Given the description of an element on the screen output the (x, y) to click on. 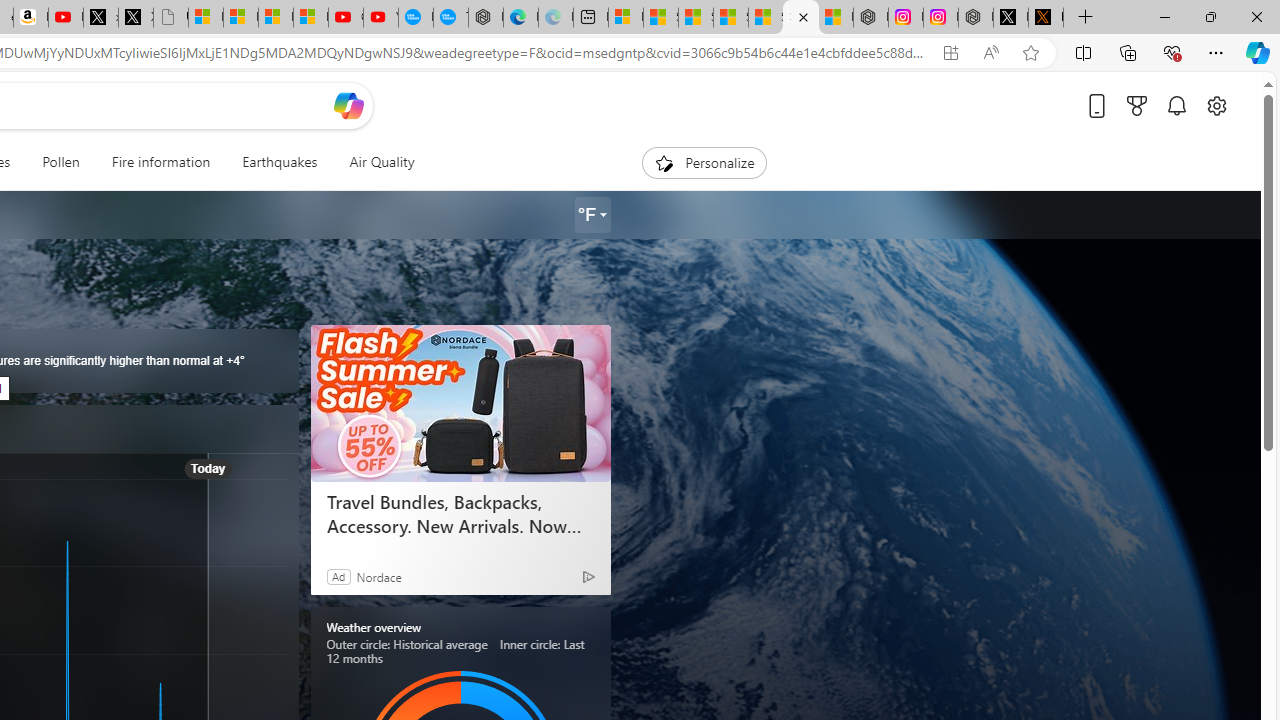
Pollen (60, 162)
Shanghai, China hourly forecast | Microsoft Weather (695, 17)
Pollen (60, 162)
Earthquakes (279, 162)
Earthquakes (280, 162)
Personalize (703, 162)
Weather settings (591, 215)
